Given the description of an element on the screen output the (x, y) to click on. 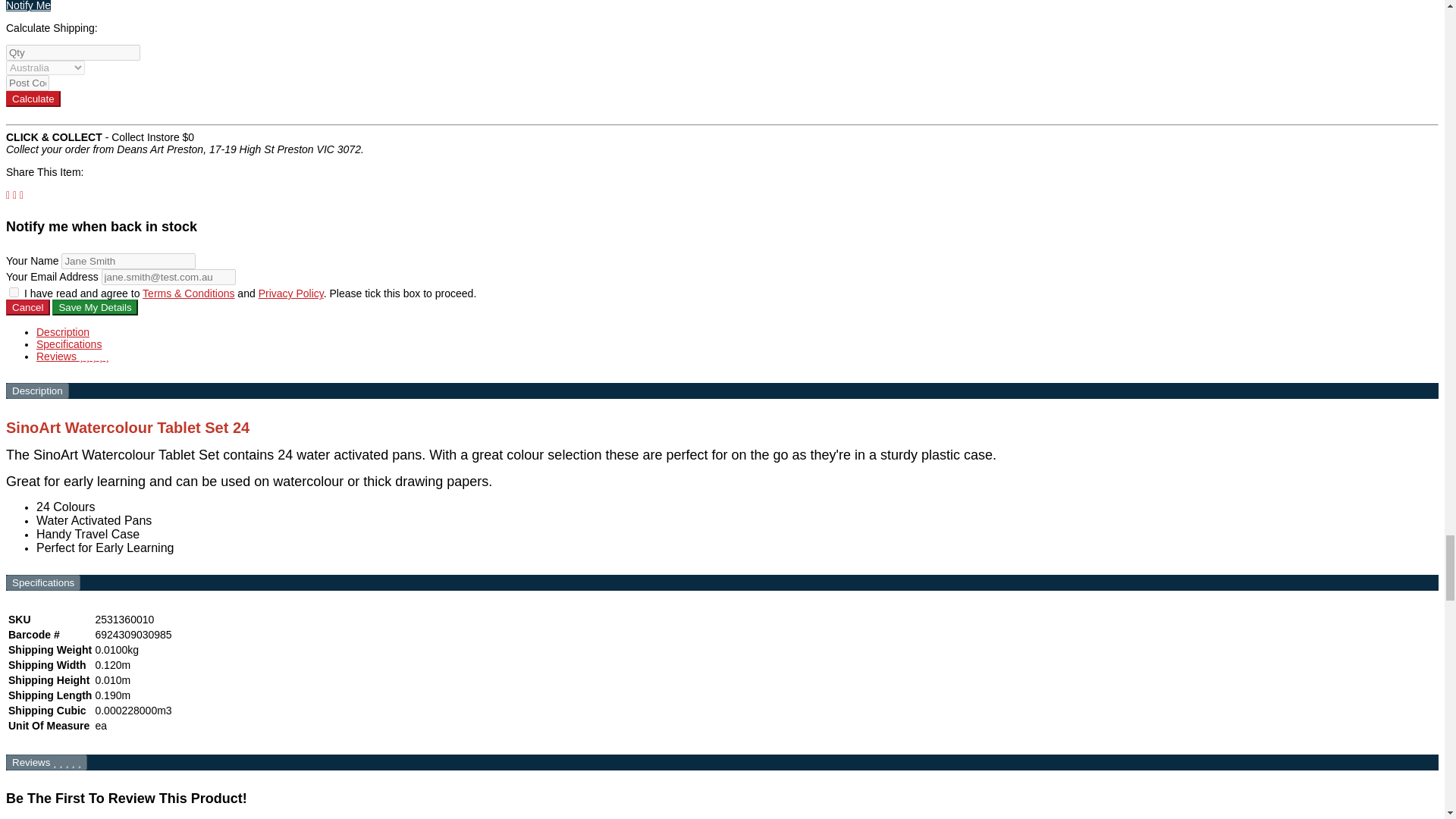
Save My Details (94, 307)
Calculate (33, 98)
Cancel (27, 307)
y (13, 292)
